Given the description of an element on the screen output the (x, y) to click on. 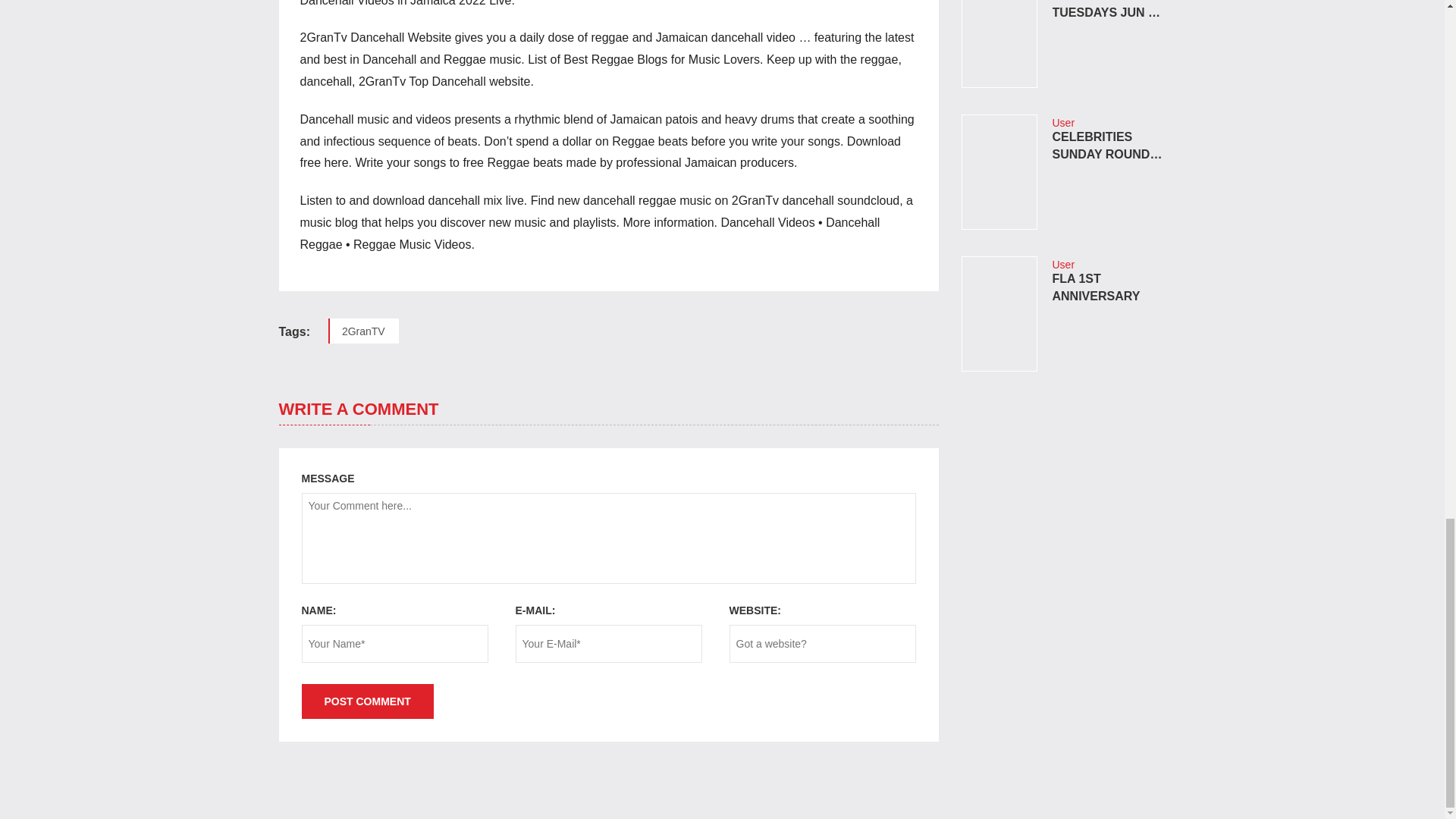
Post Comment (367, 701)
Posts by user (1063, 264)
Posts by user (1063, 122)
2GranTV (363, 330)
